Given the description of an element on the screen output the (x, y) to click on. 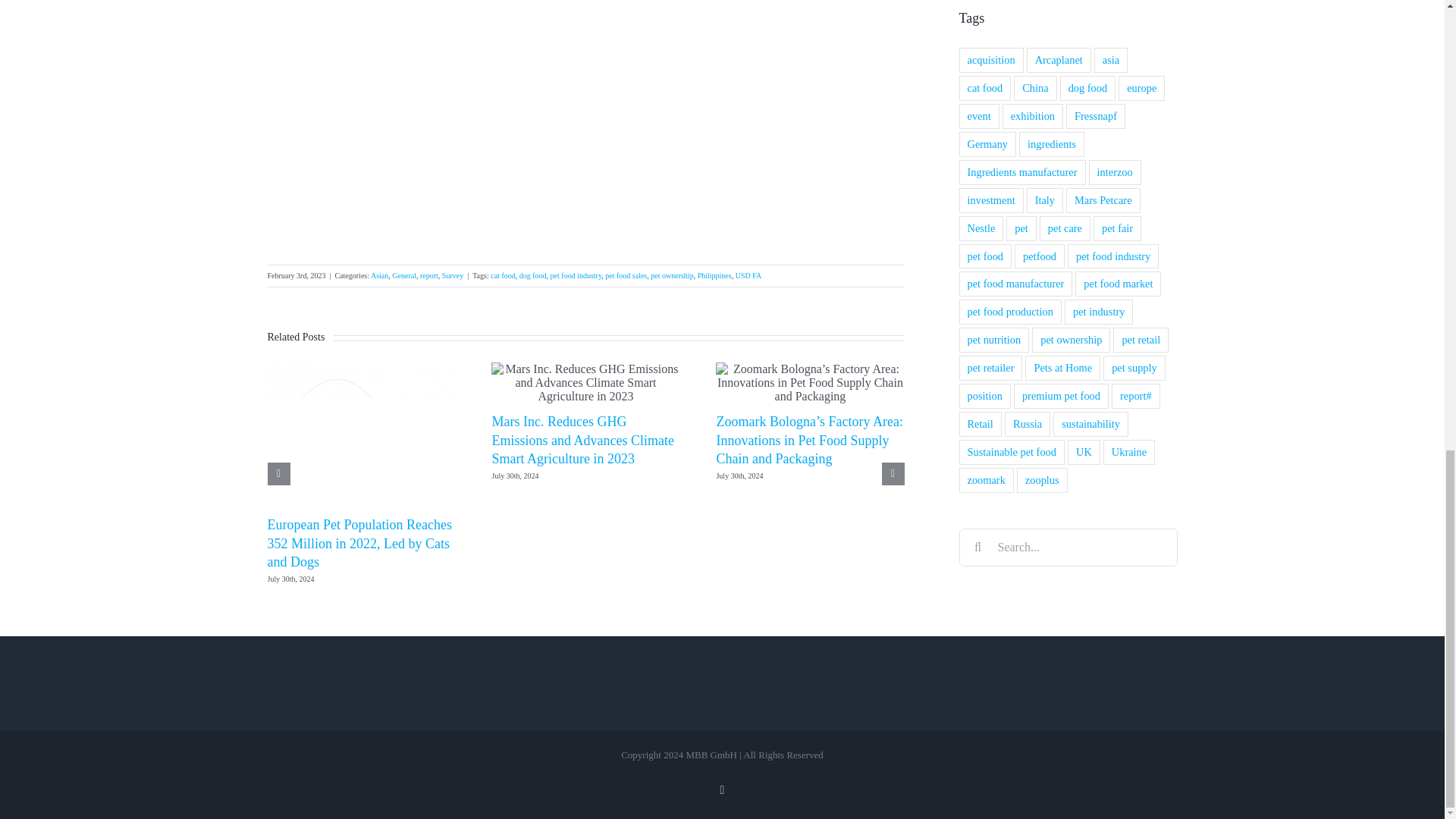
Survey (452, 275)
report (429, 275)
cat food (502, 275)
Asian (379, 275)
General (403, 275)
